Given the description of an element on the screen output the (x, y) to click on. 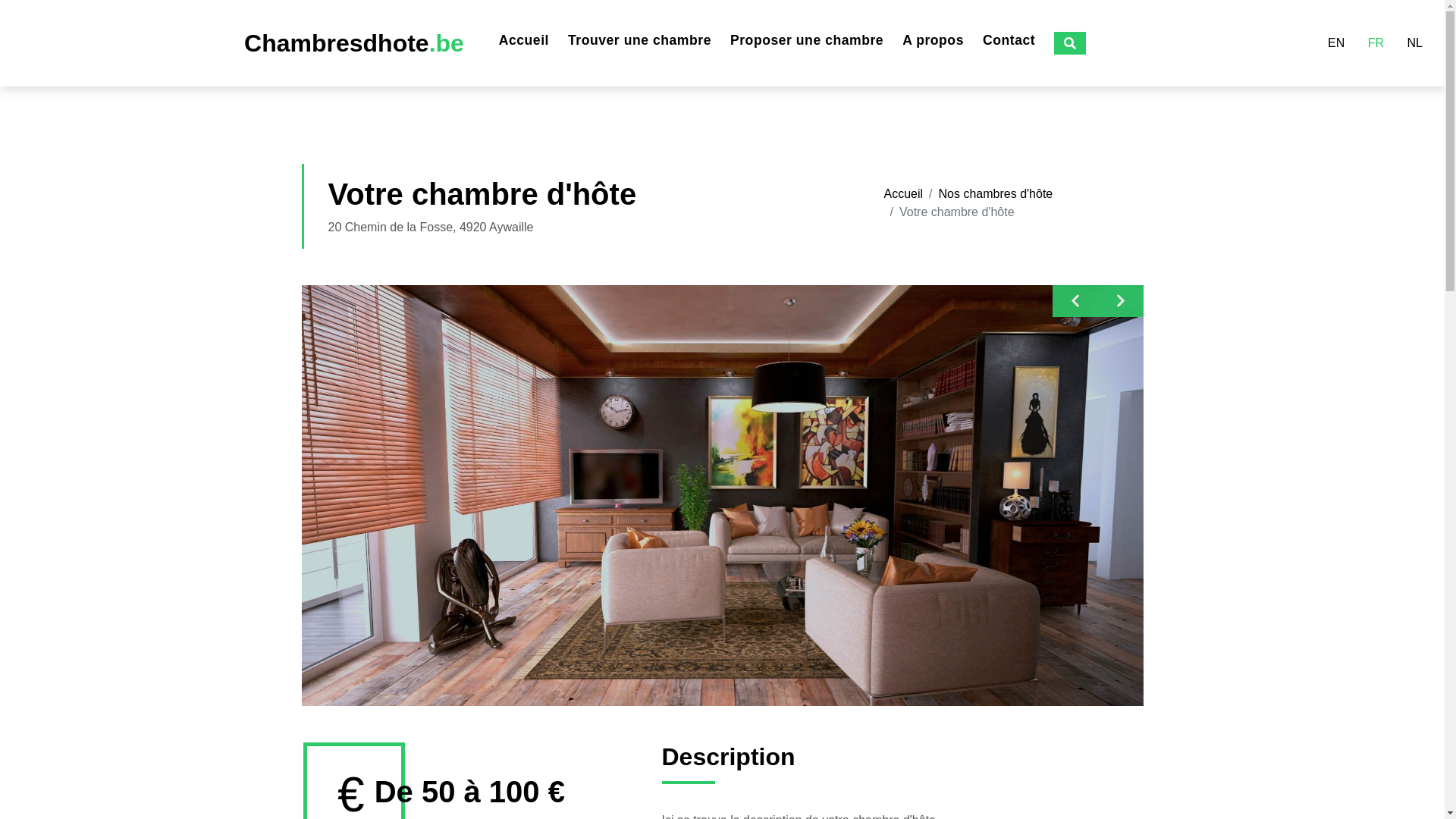
Accueil Element type: text (903, 193)
NL Element type: text (1414, 42)
Proposer une chambre Element type: text (806, 40)
Contact Element type: text (1008, 40)
Trouver une chambre Element type: text (639, 40)
Chambresdhote.be Element type: text (354, 43)
A propos Element type: text (932, 40)
Accueil Element type: text (523, 40)
EN Element type: text (1335, 42)
FR Element type: text (1375, 42)
